Given the description of an element on the screen output the (x, y) to click on. 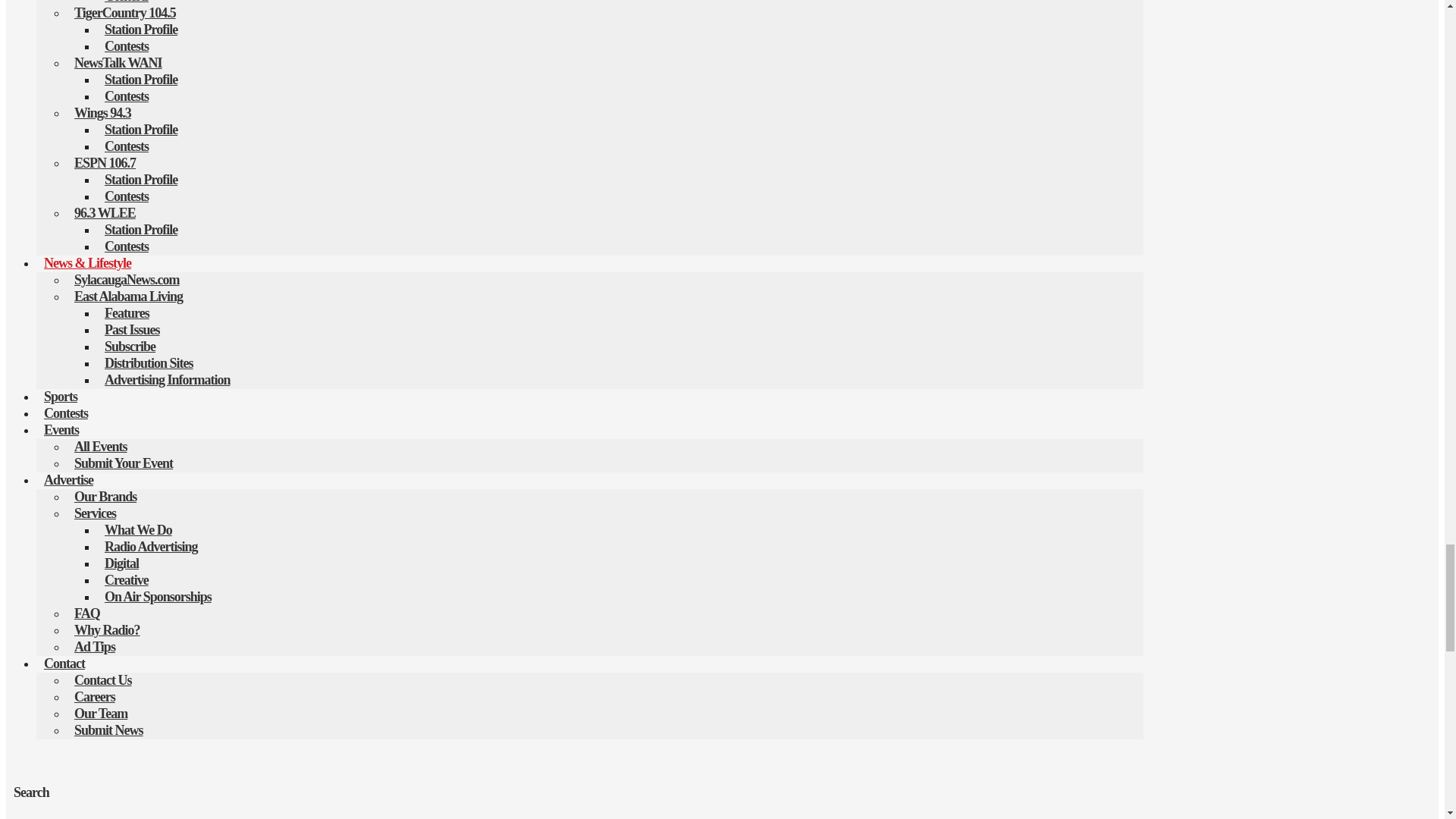
Follow us on Facebook (13, 797)
